Given the description of an element on the screen output the (x, y) to click on. 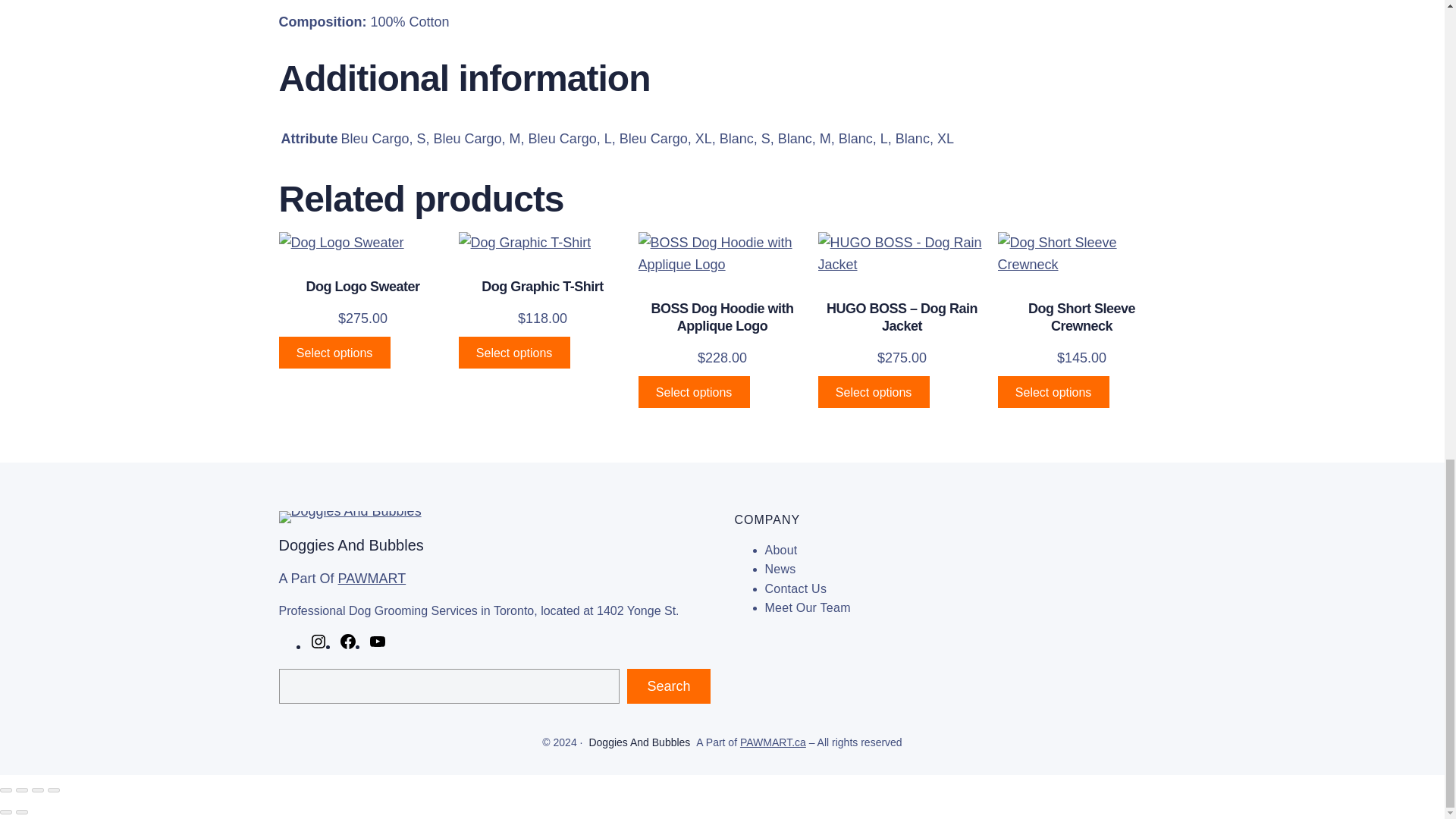
Dog Graphic T-Shirt (542, 286)
Dog Logo Sweater (362, 286)
Select options (513, 352)
Select options (334, 352)
